Given the description of an element on the screen output the (x, y) to click on. 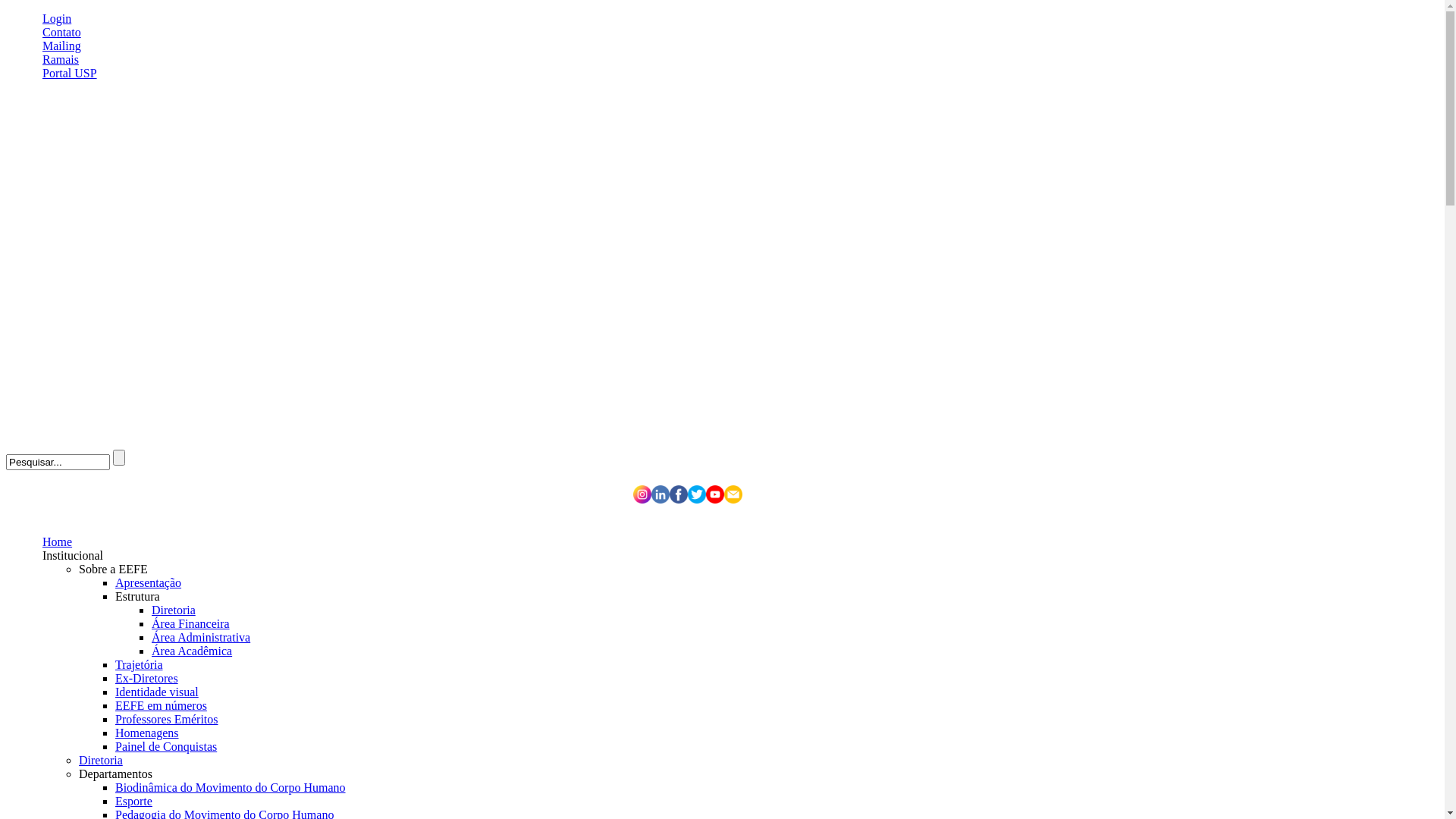
Estrutura Element type: text (137, 595)
Ex-Diretores Element type: text (146, 677)
Identidade visual Element type: text (156, 691)
Esporte Element type: text (133, 800)
Contato Element type: text (61, 31)
Institucional Element type: text (72, 555)
Home Element type: text (57, 541)
Portal USP Element type: text (69, 72)
Painel de Conquistas Element type: text (165, 746)
Homenagens Element type: text (146, 732)
Diretoria Element type: text (100, 759)
Ramais Element type: text (60, 59)
Login Element type: text (56, 18)
Diretoria Element type: text (173, 609)
Mailing Element type: text (61, 45)
Sobre a EEFE Element type: text (112, 568)
Departamentos Element type: text (115, 773)
